Given the description of an element on the screen output the (x, y) to click on. 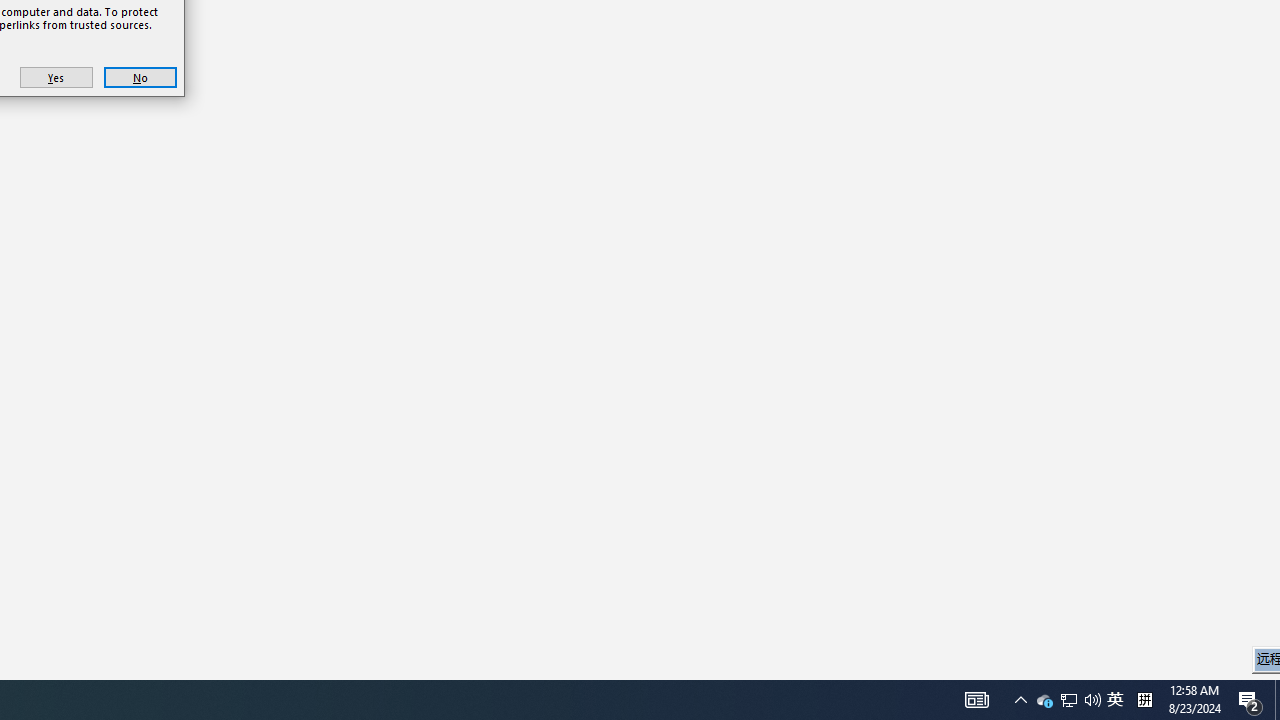
Yes (1115, 699)
No (56, 77)
Tray Input Indicator - Chinese (Simplified, China) (139, 77)
